Given the description of an element on the screen output the (x, y) to click on. 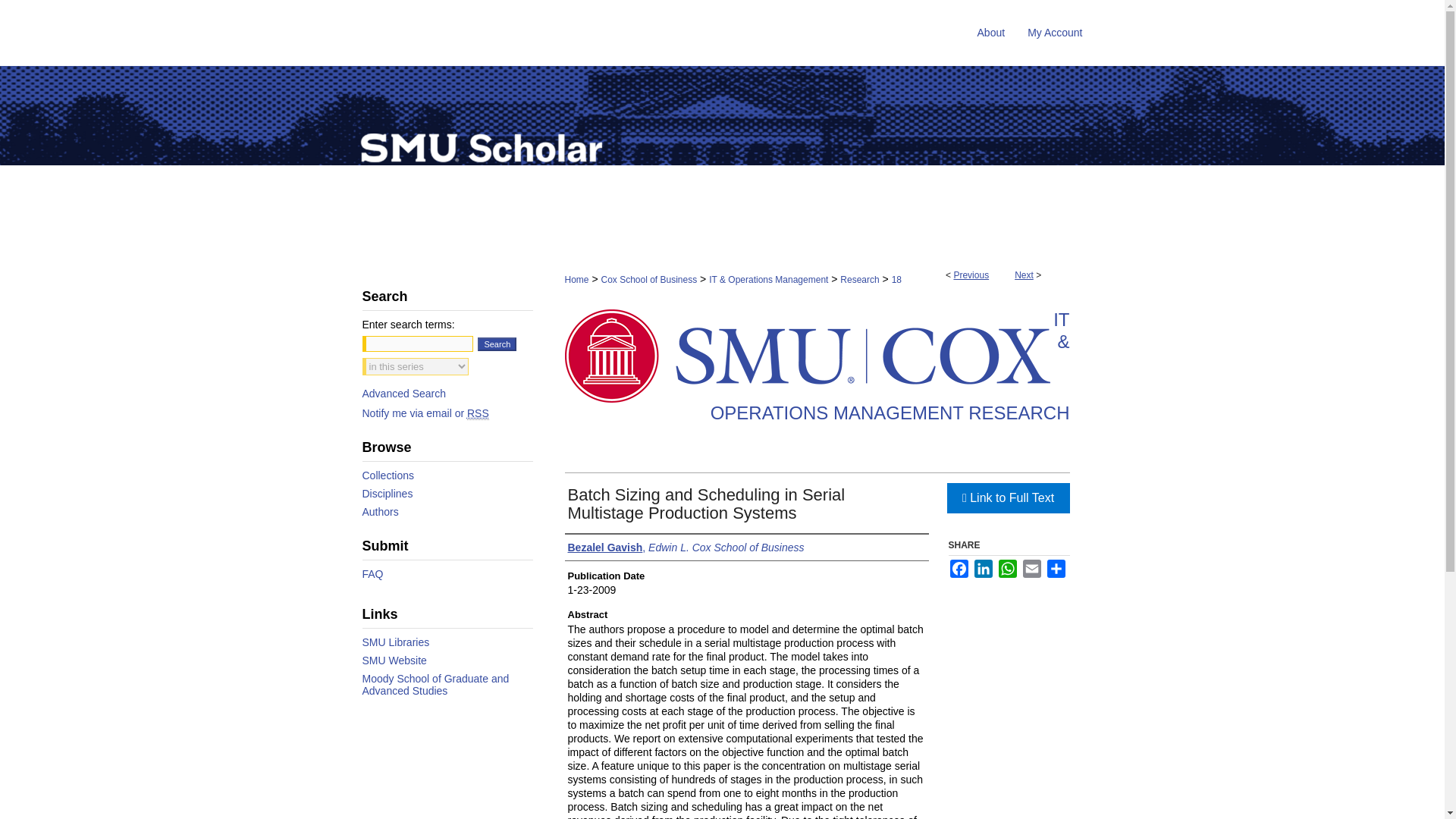
LinkedIn (982, 568)
Really Simple Syndication (478, 413)
Link opens in new window (1007, 498)
Home (576, 279)
Search (496, 344)
Previous (970, 275)
Search (496, 344)
Research (859, 279)
WhatsApp (1006, 568)
